Given the description of an element on the screen output the (x, y) to click on. 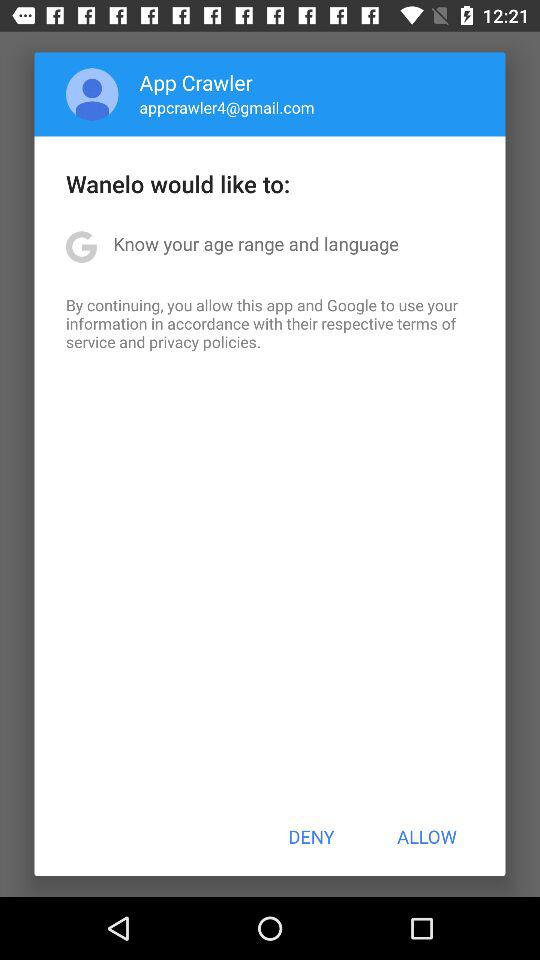
turn off icon below the by continuing you item (311, 836)
